Given the description of an element on the screen output the (x, y) to click on. 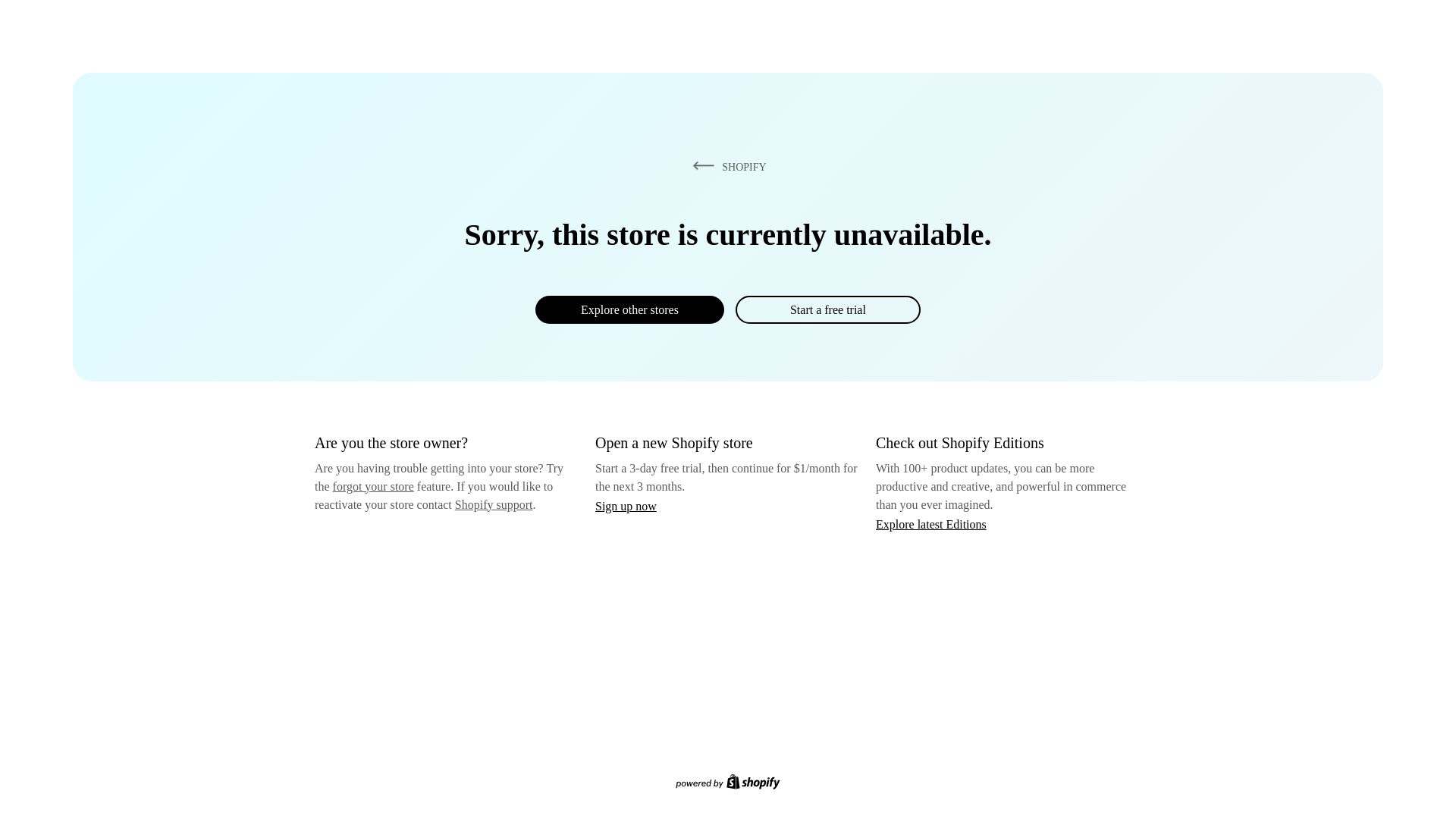
Sign up now (625, 505)
Shopify support (493, 504)
Explore other stores (629, 309)
SHOPIFY (726, 166)
forgot your store (373, 486)
Explore latest Editions (931, 523)
Start a free trial (827, 309)
